Given the description of an element on the screen output the (x, y) to click on. 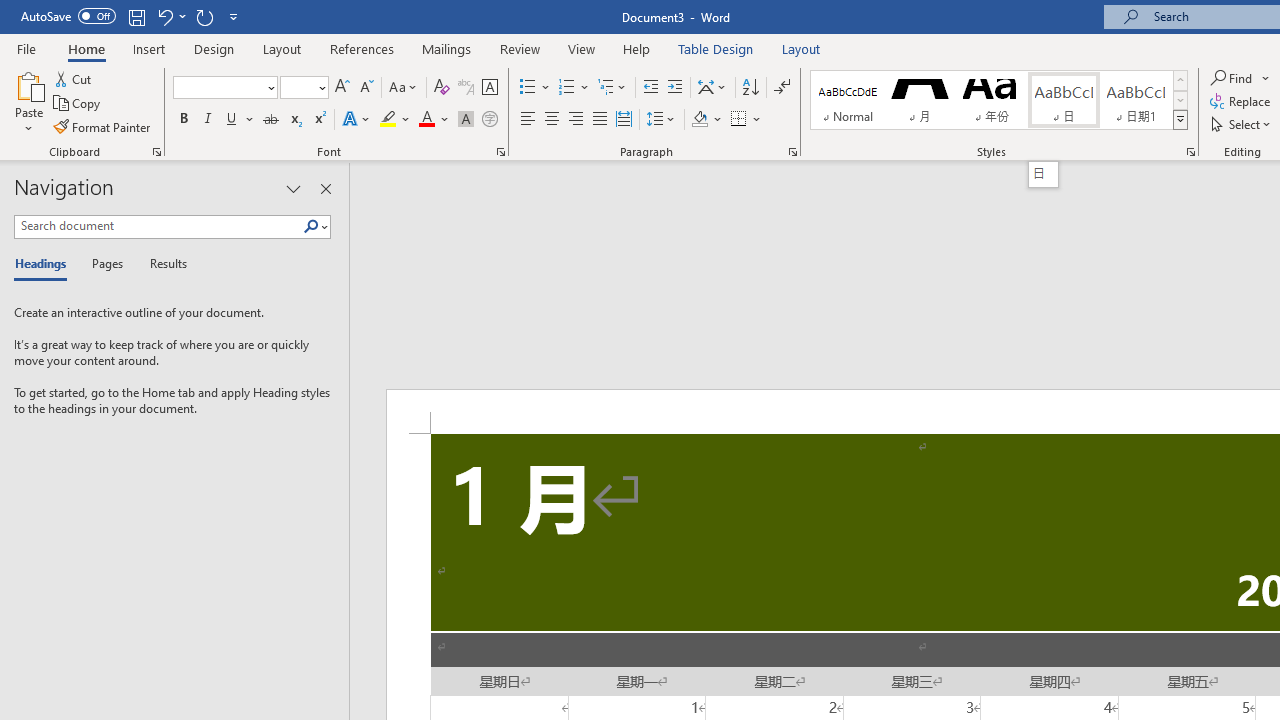
Undo Text Fill Effect (164, 15)
Bold (183, 119)
Underline (239, 119)
Character Shading (465, 119)
Asian Layout (712, 87)
Shading RGB(0, 0, 0) (699, 119)
Change Case (404, 87)
Customize Quick Access Toolbar (234, 15)
Decrease Indent (650, 87)
Font (224, 87)
Paste (28, 84)
Text Effects and Typography (357, 119)
View (582, 48)
Superscript (319, 119)
